Given the description of an element on the screen output the (x, y) to click on. 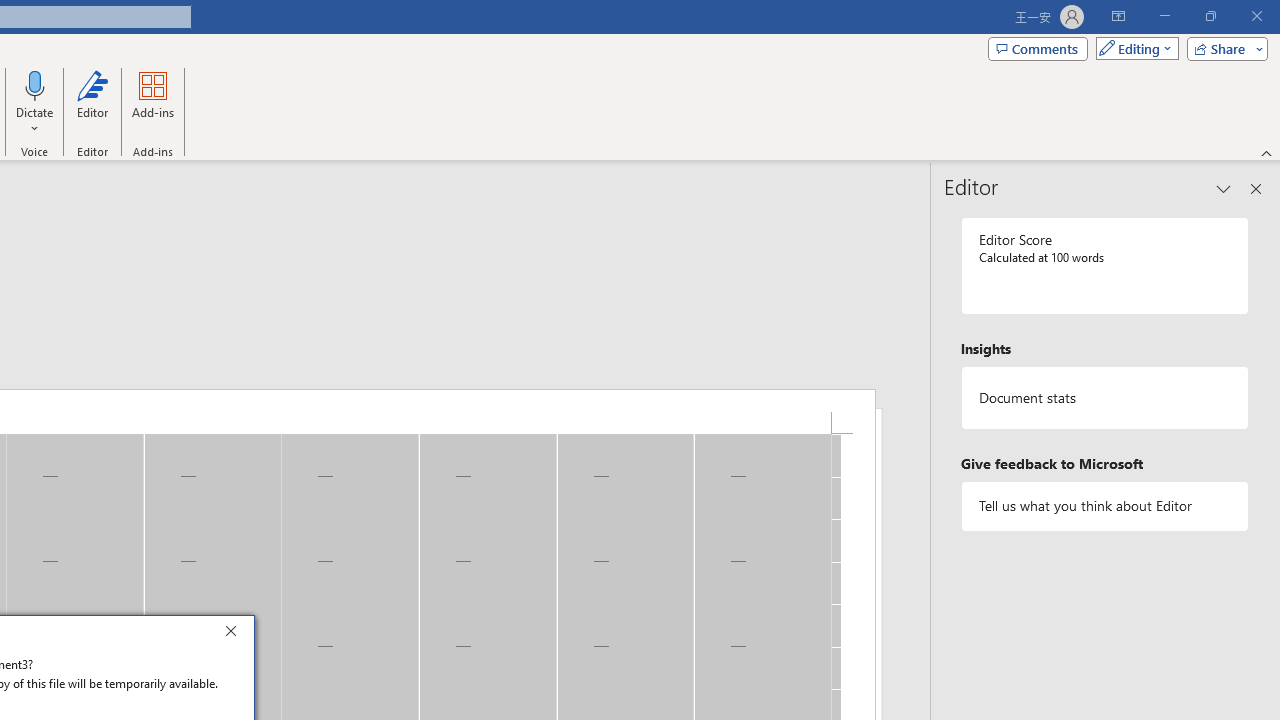
Tell us what you think about Editor (1105, 506)
Document statistics (1105, 398)
